Given the description of an element on the screen output the (x, y) to click on. 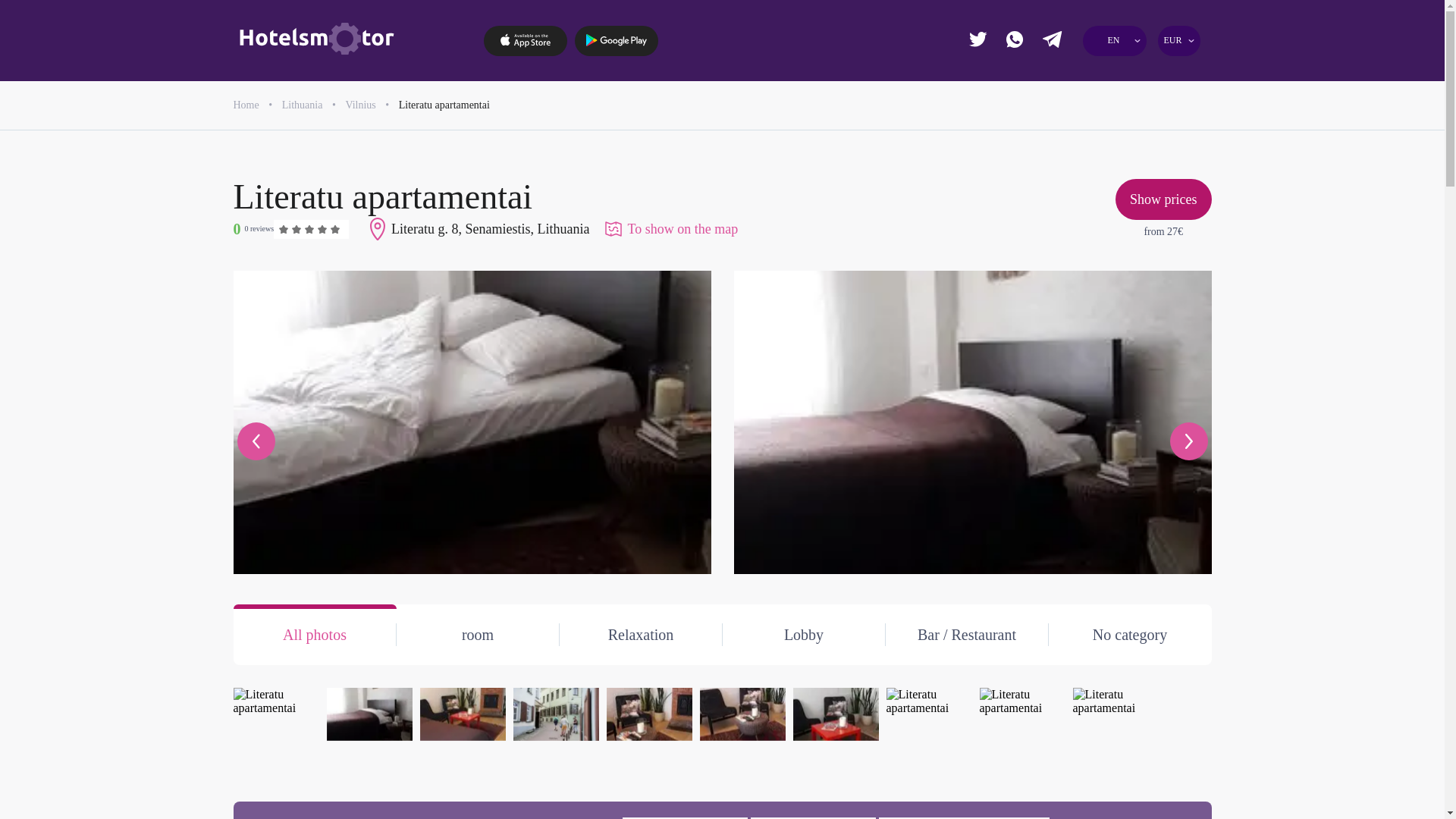
rub (1165, 131)
pln (1055, 131)
usd (1055, 188)
ron (1110, 131)
jpy (1110, 104)
eur (1055, 76)
try (1165, 161)
sek (1110, 161)
czk (1165, 76)
gbp (1110, 76)
krw (1055, 161)
dkk (1055, 104)
nok (1165, 104)
